Given the description of an element on the screen output the (x, y) to click on. 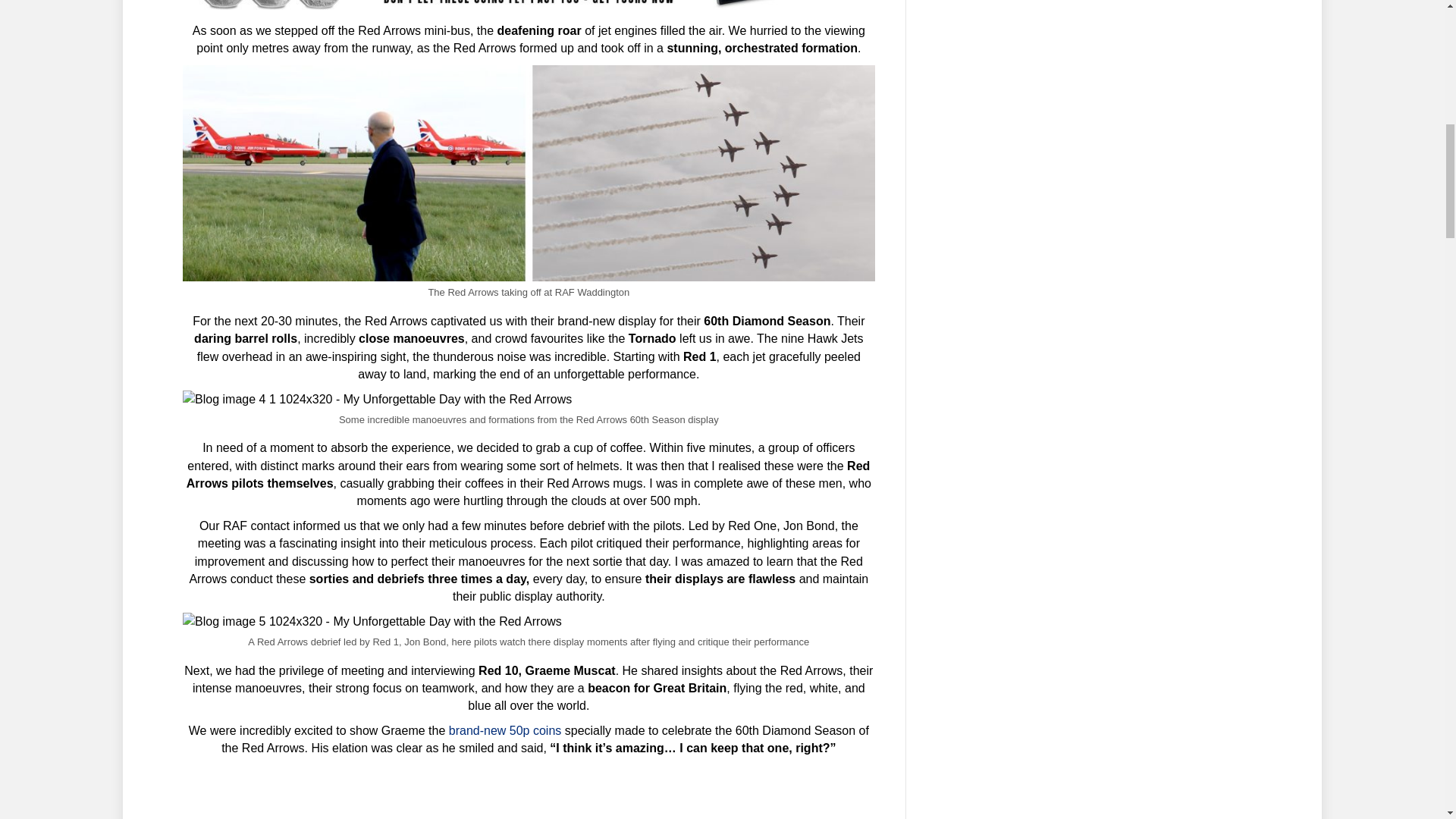
My Unforgettable Day with the Red Arrows (372, 620)
My Unforgettable Day with the Red Arrows (529, 5)
My Unforgettable Day with the Red Arrows (377, 398)
brand-new 50p coins (505, 730)
